Given the description of an element on the screen output the (x, y) to click on. 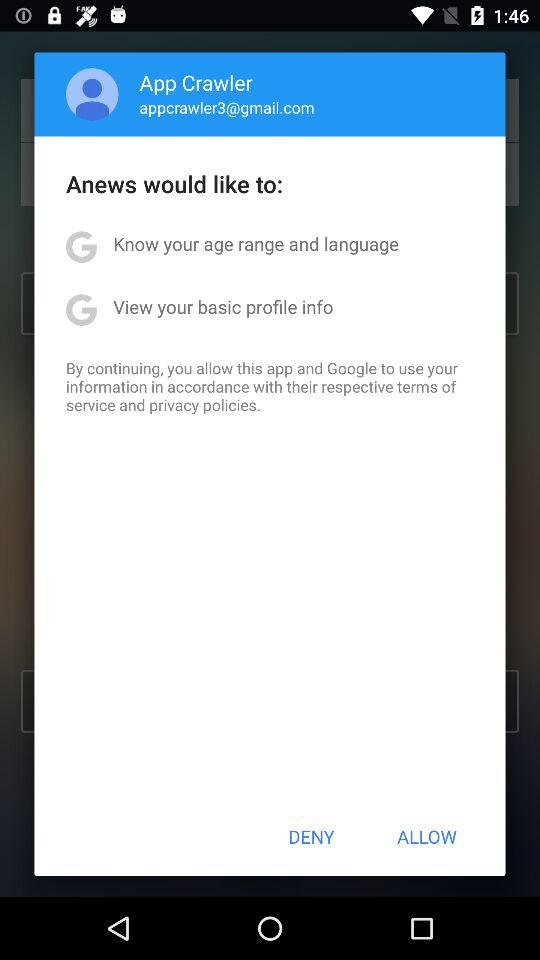
swipe until app crawler icon (195, 82)
